Given the description of an element on the screen output the (x, y) to click on. 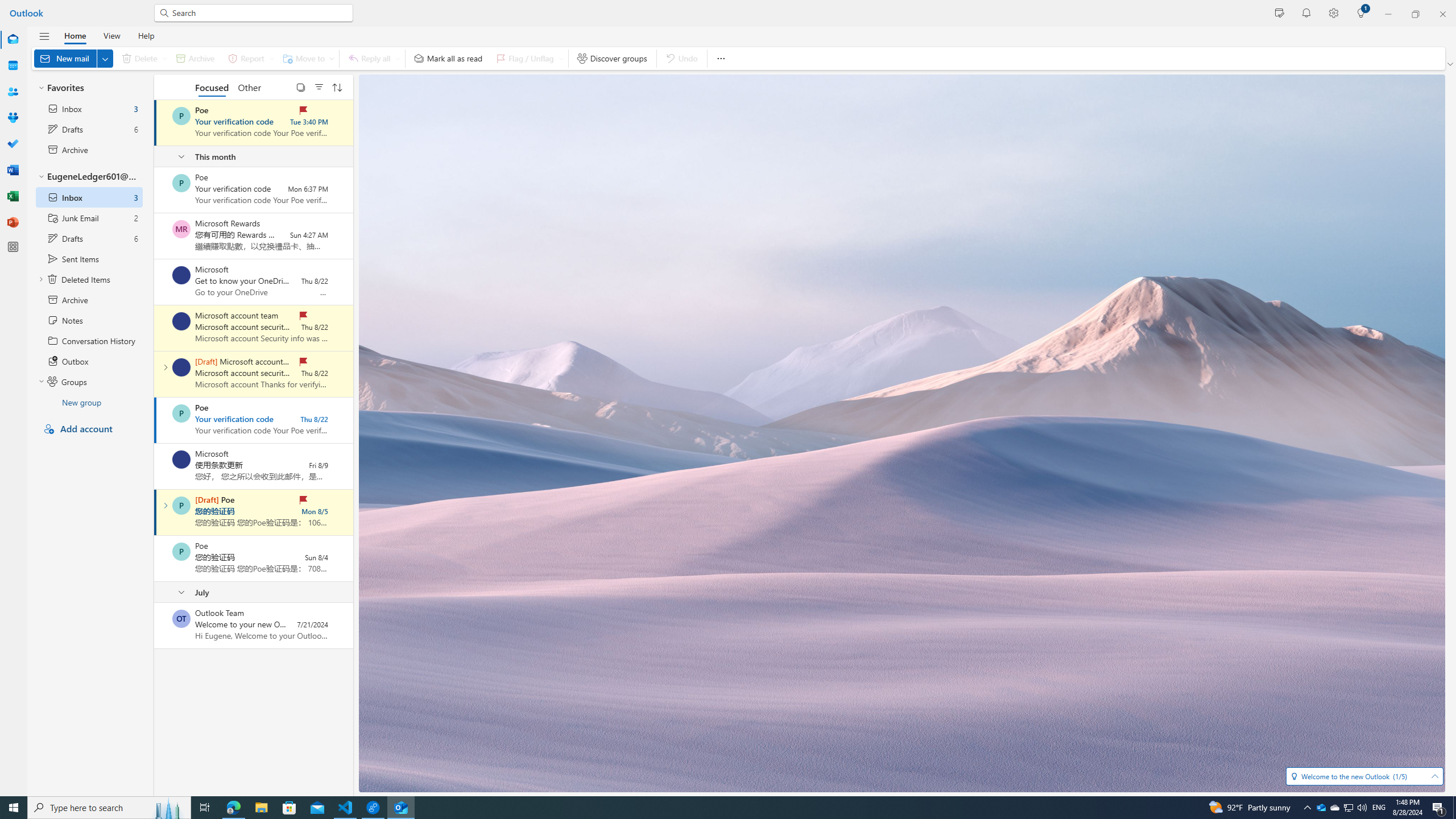
Poe (180, 551)
Excel (12, 196)
Discover groups (611, 58)
People (12, 92)
New mail (73, 58)
Other (248, 86)
Move to (306, 58)
Mark all as read (448, 58)
People (12, 91)
Excel (12, 196)
